Given the description of an element on the screen output the (x, y) to click on. 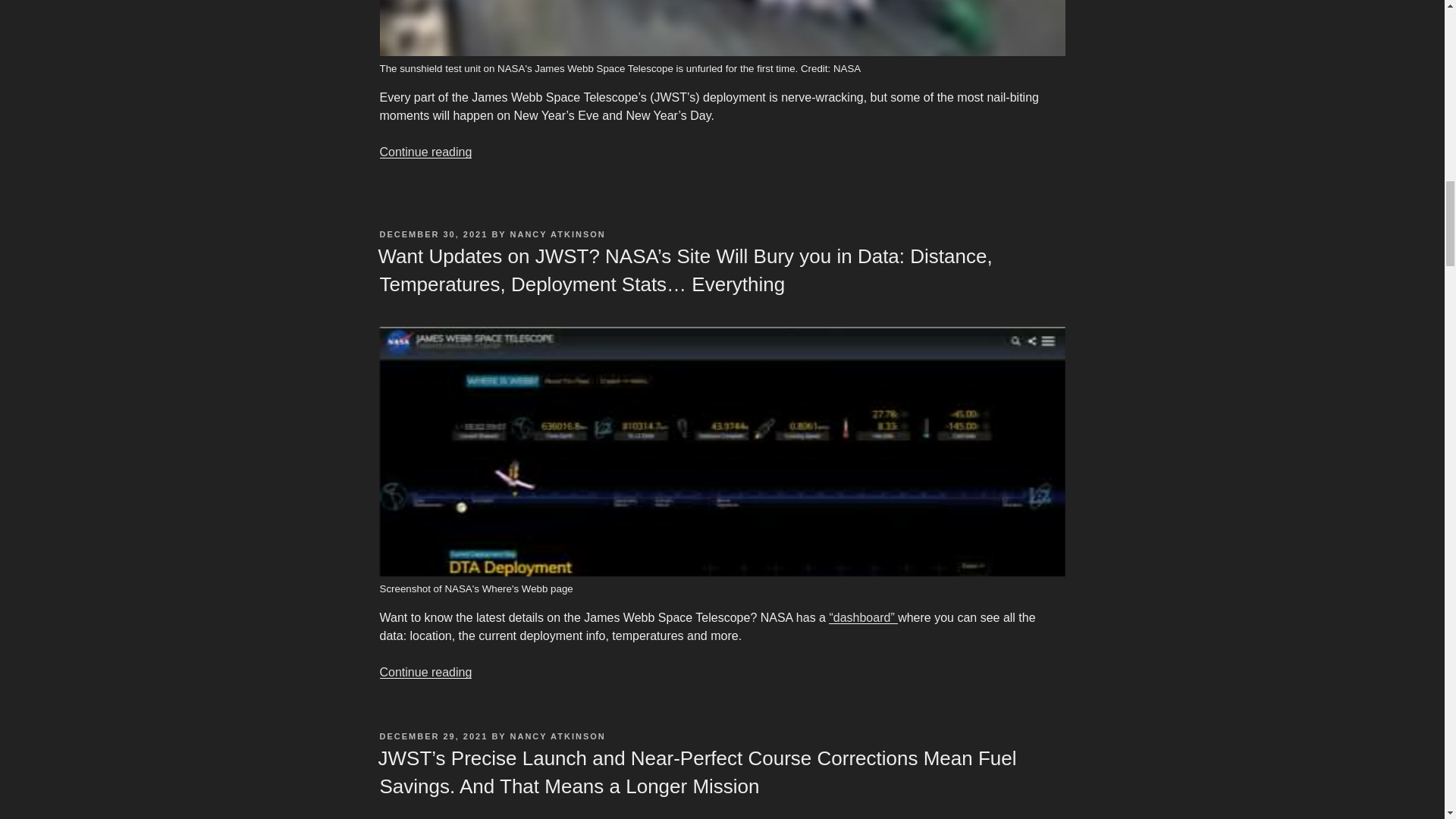
DECEMBER 30, 2021 (432, 234)
NANCY ATKINSON (558, 234)
DECEMBER 29, 2021 (432, 736)
NANCY ATKINSON (558, 736)
